Given the description of an element on the screen output the (x, y) to click on. 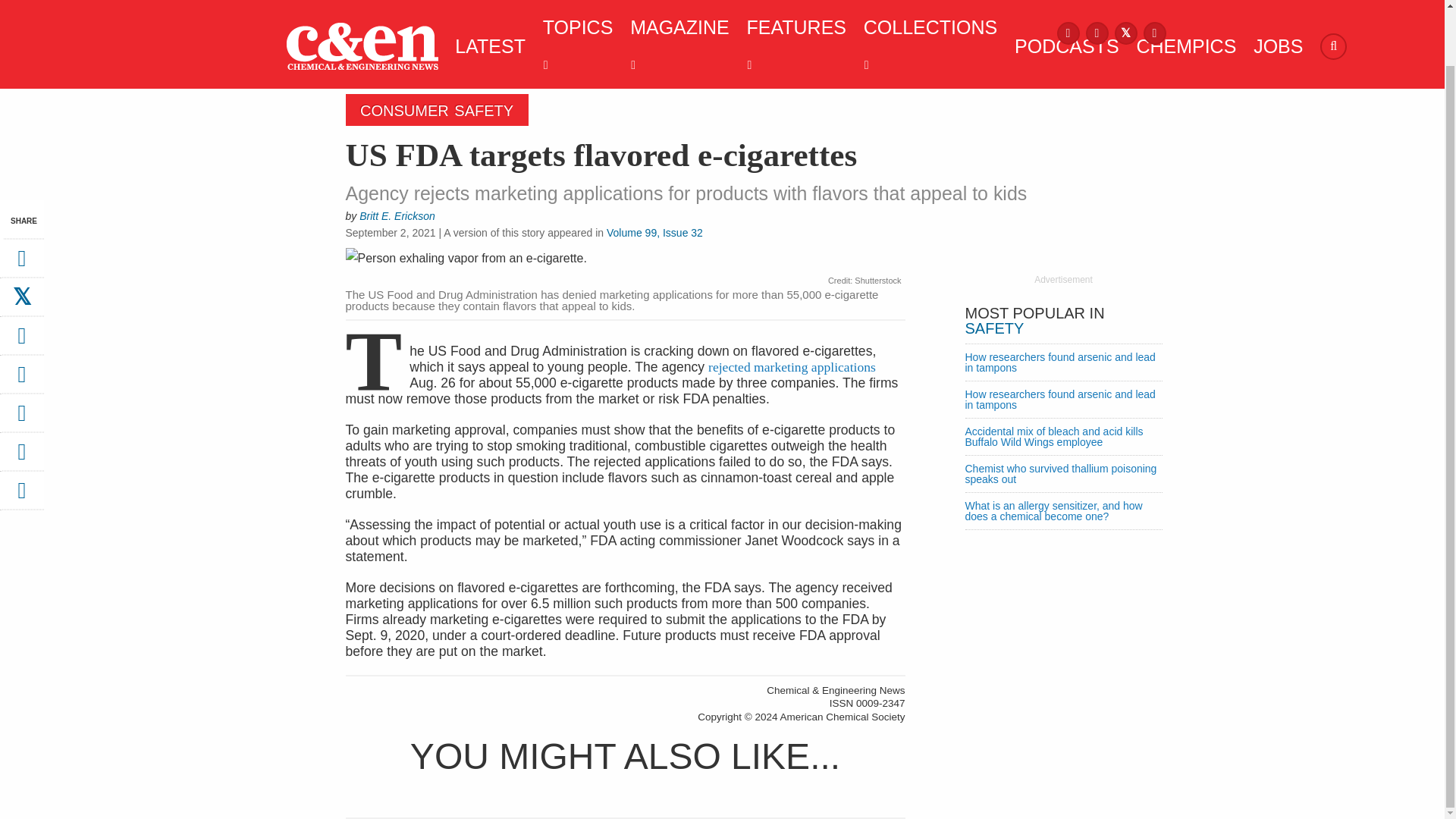
TOPICS (573, 46)
X (1126, 31)
WeChat (21, 418)
Person exhaling vapor from an e-cigarette. (625, 260)
LATEST (485, 46)
Facebook (1068, 31)
Instagram (1097, 31)
LinkedIn (1154, 31)
